Given the description of an element on the screen output the (x, y) to click on. 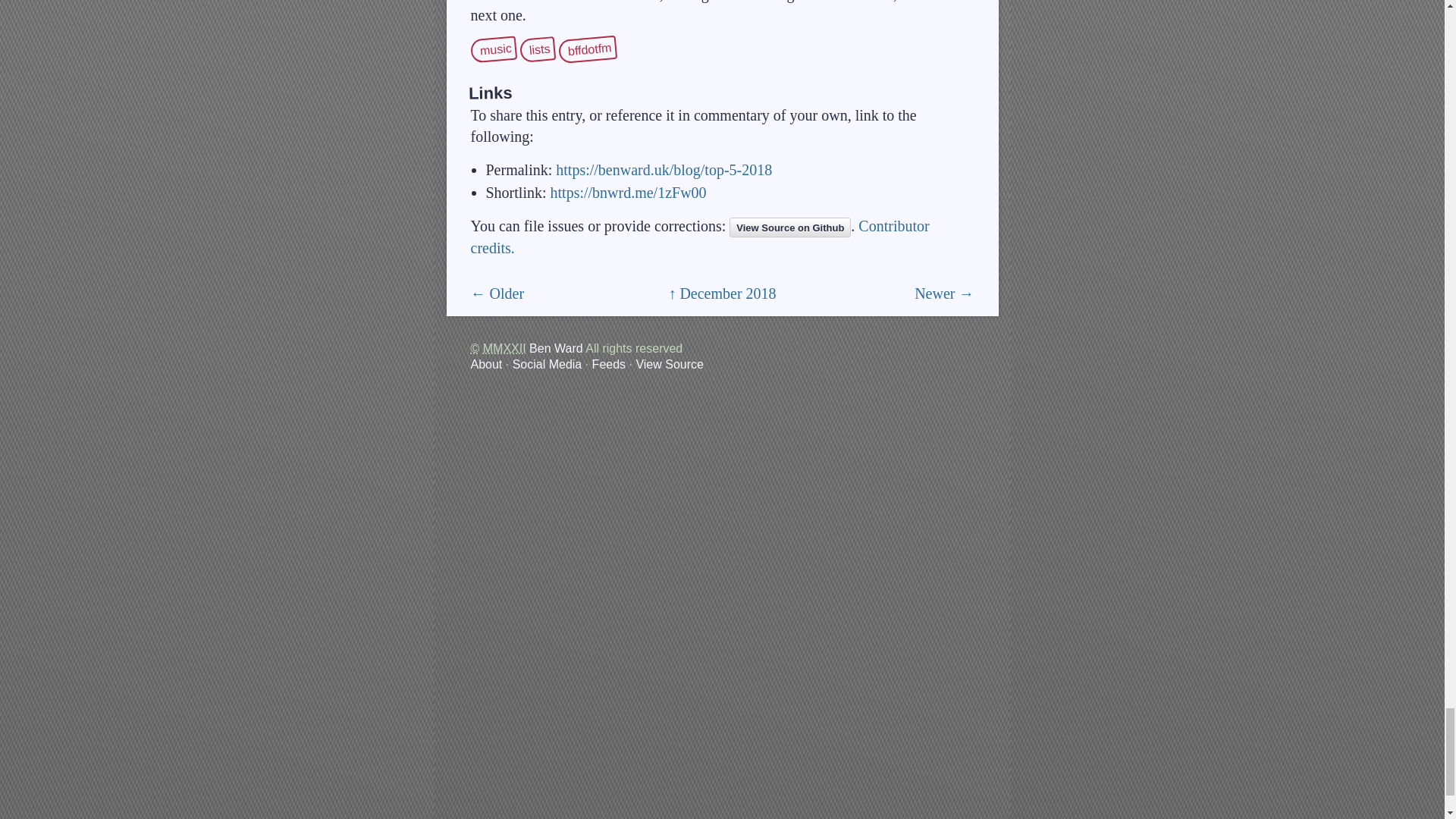
music (495, 47)
About (486, 364)
lists (539, 48)
2022 (504, 348)
